Given the description of an element on the screen output the (x, y) to click on. 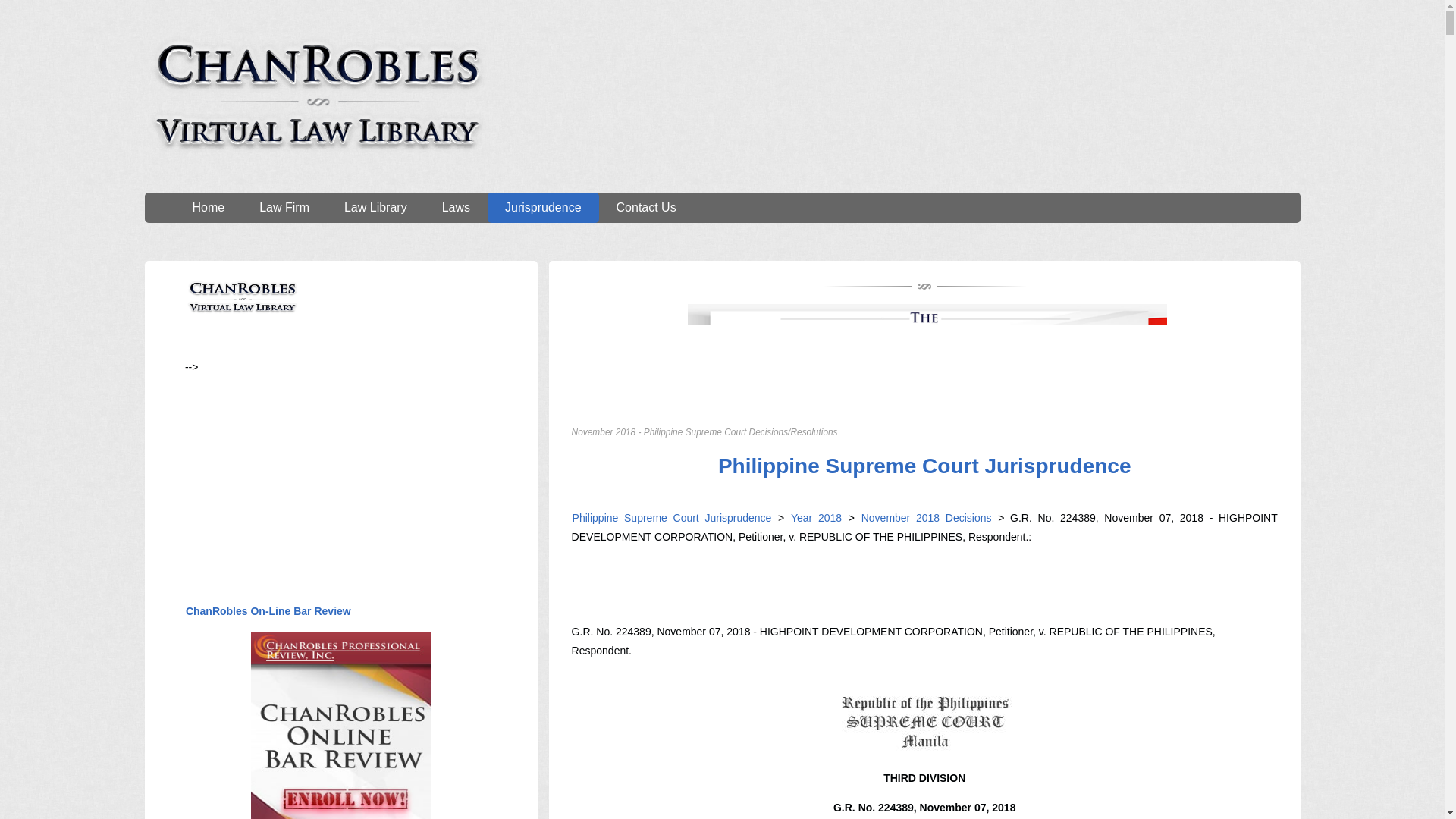
Law Library (375, 207)
Philippine Supreme Court Jurisprudence (924, 465)
Philippine Supreme Court Jurisprudence (672, 517)
Jurisprudence (542, 207)
ChanRobles On-Line Bar Review (268, 611)
Year 2018 (816, 517)
Home (207, 207)
Laws (456, 207)
Law Firm (283, 207)
Contact Us (646, 207)
November 2018 Decisions (923, 517)
